Given the description of an element on the screen output the (x, y) to click on. 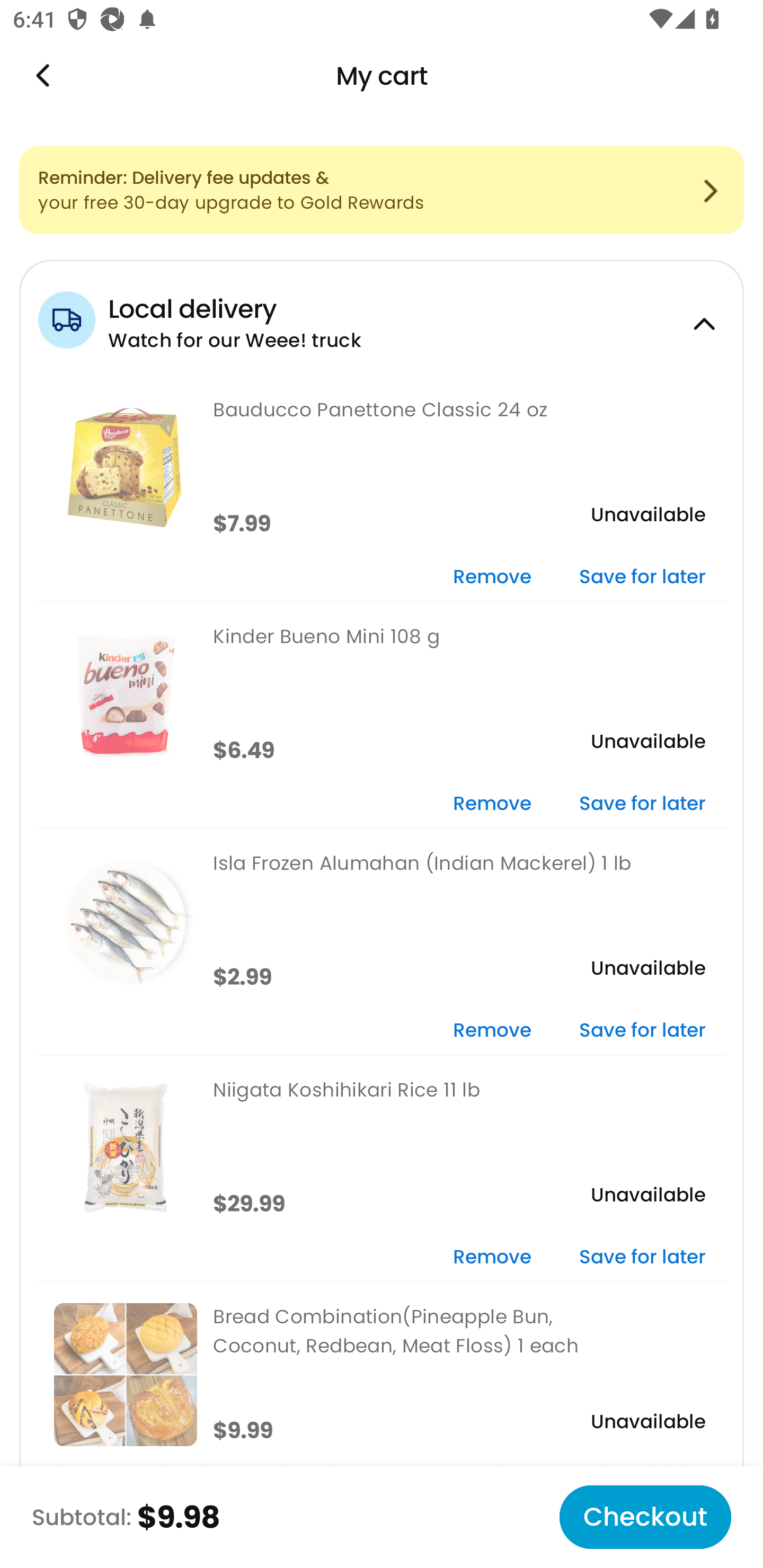
Local delivery Watch for our Weee! truck (381, 317)
Remove (491, 577)
Save for later (642, 577)
Remove (491, 804)
Save for later (642, 804)
Remove (491, 1030)
Save for later (642, 1030)
Remove (491, 1258)
Save for later (642, 1258)
Checkout (644, 1516)
